Given the description of an element on the screen output the (x, y) to click on. 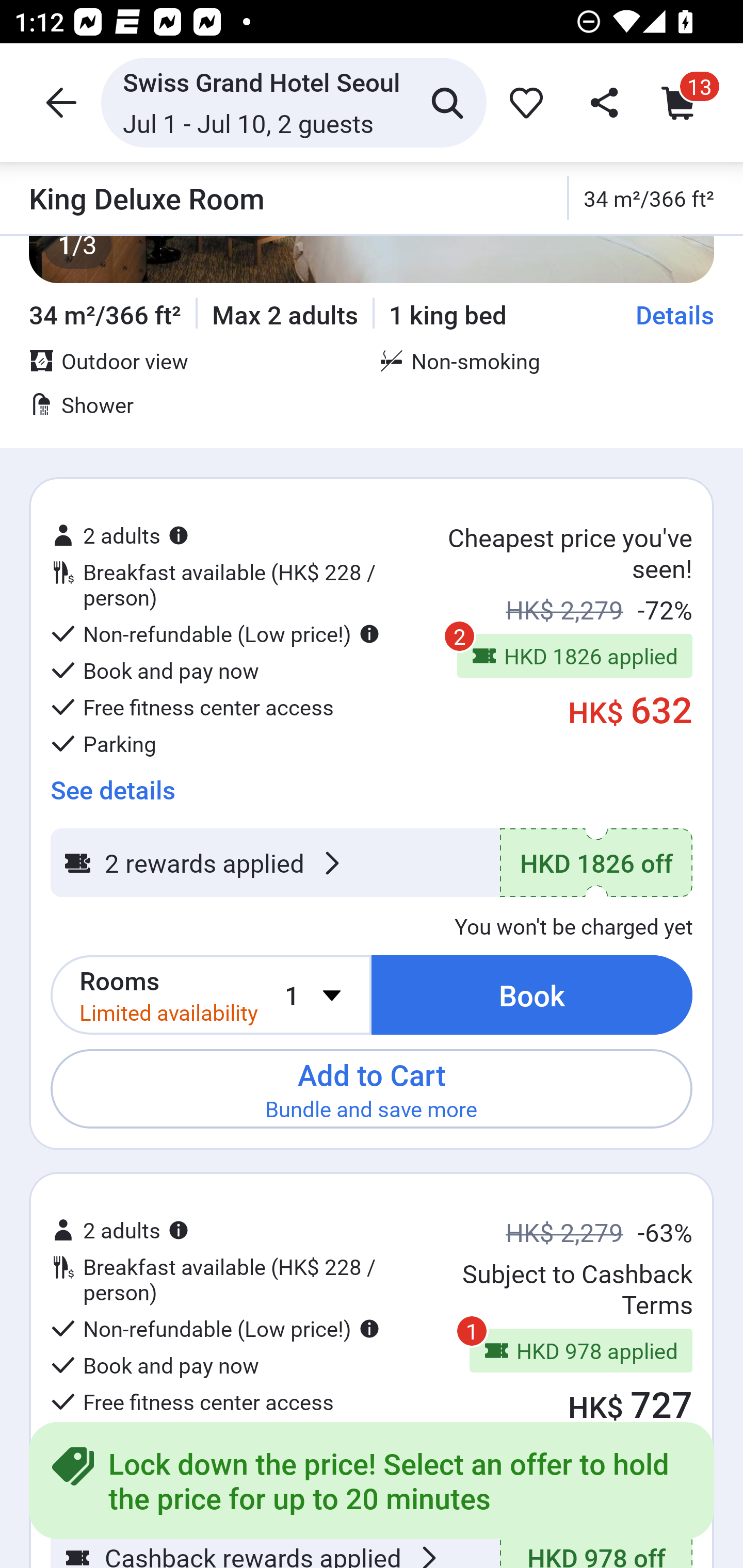
header icon (59, 102)
favorite_icon 0dbe6efb (522, 102)
share_header_icon (601, 102)
Cart icon cart_item_count 13 (683, 102)
Details (674, 314)
2 adults (119, 535)
Non-refundable (Low price!) (215, 634)
See details (112, 783)
2 rewards applied HKD 1826 off (371, 863)
Rooms Limited availability 1 (210, 994)
Book (531, 994)
Add to Cart Bundle and save more (371, 1088)
2 adults (119, 1229)
Non-refundable (Low price!) (215, 1328)
